Given the description of an element on the screen output the (x, y) to click on. 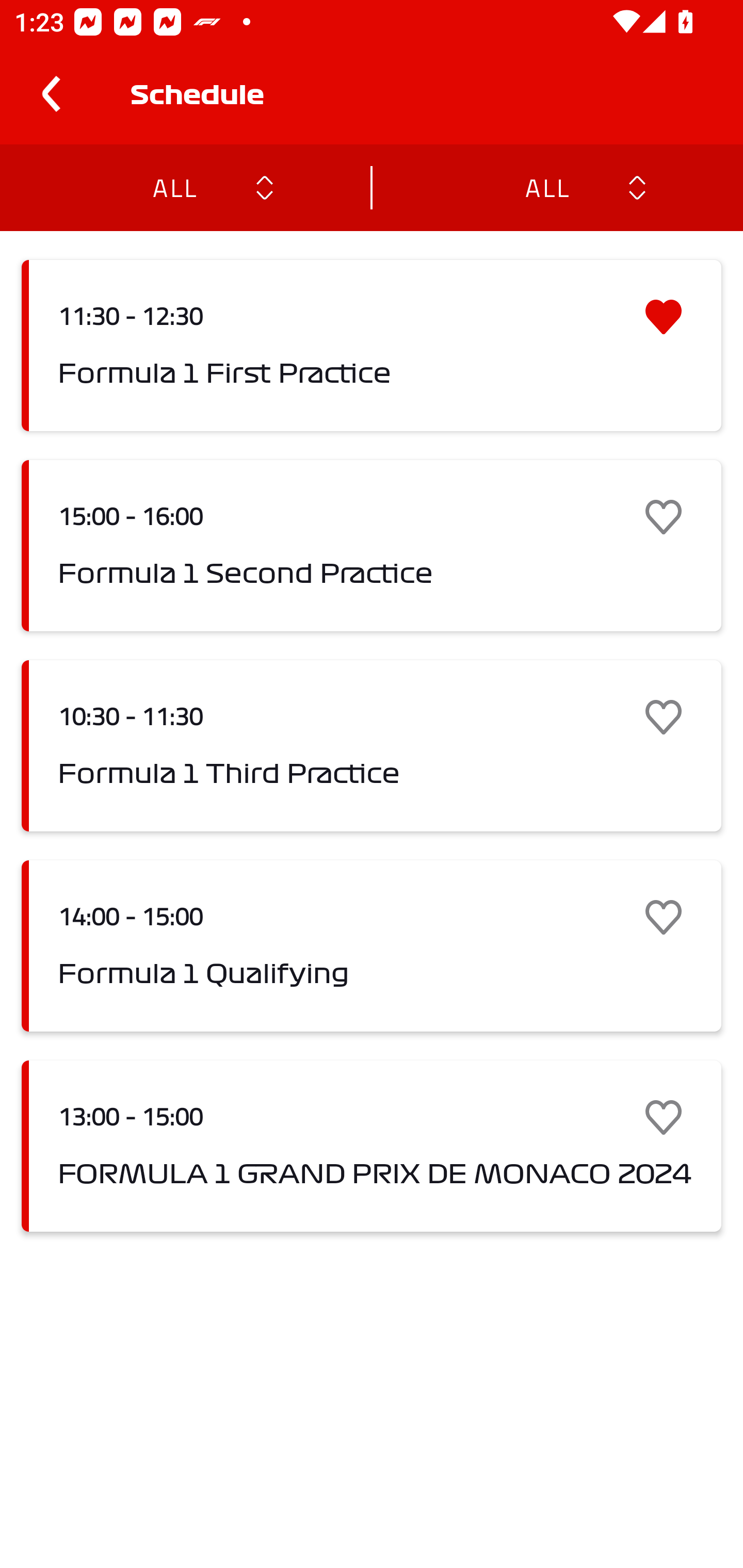
Navigate up (50, 93)
ALL (174, 187)
ALL (546, 187)
11:30 - 12:30 Formula 1 First Practice (371, 345)
15:00 - 16:00 Formula 1 Second Practice (371, 545)
10:30 - 11:30 Formula 1 Third Practice (371, 745)
14:00 - 15:00 Formula 1 Qualifying (371, 945)
13:00 - 15:00 FORMULA 1 GRAND PRIX DE MONACO 2024 (371, 1145)
